Given the description of an element on the screen output the (x, y) to click on. 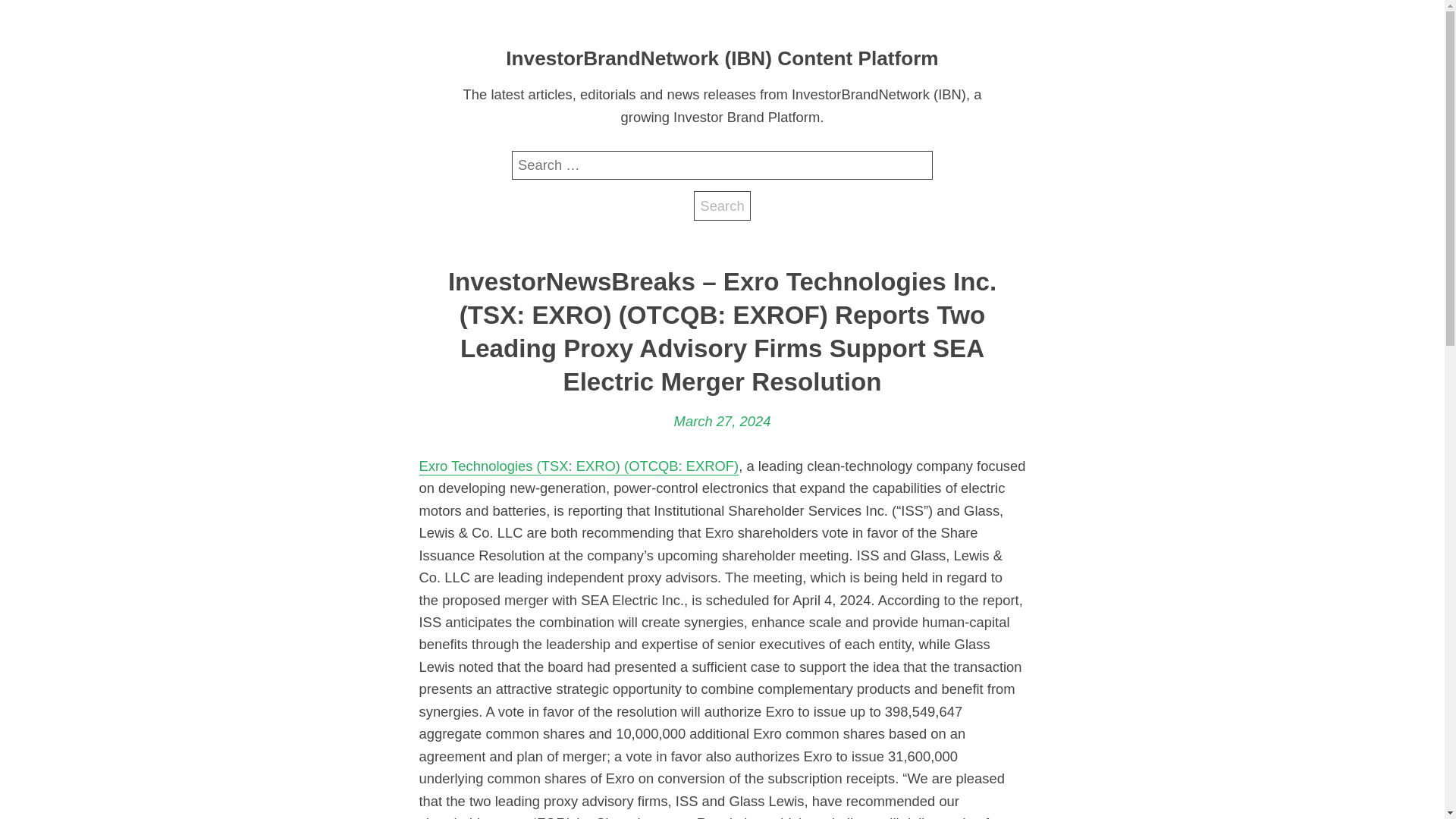
Search (722, 205)
March 27, 2024 (722, 420)
Search (722, 205)
Search (722, 205)
